Given the description of an element on the screen output the (x, y) to click on. 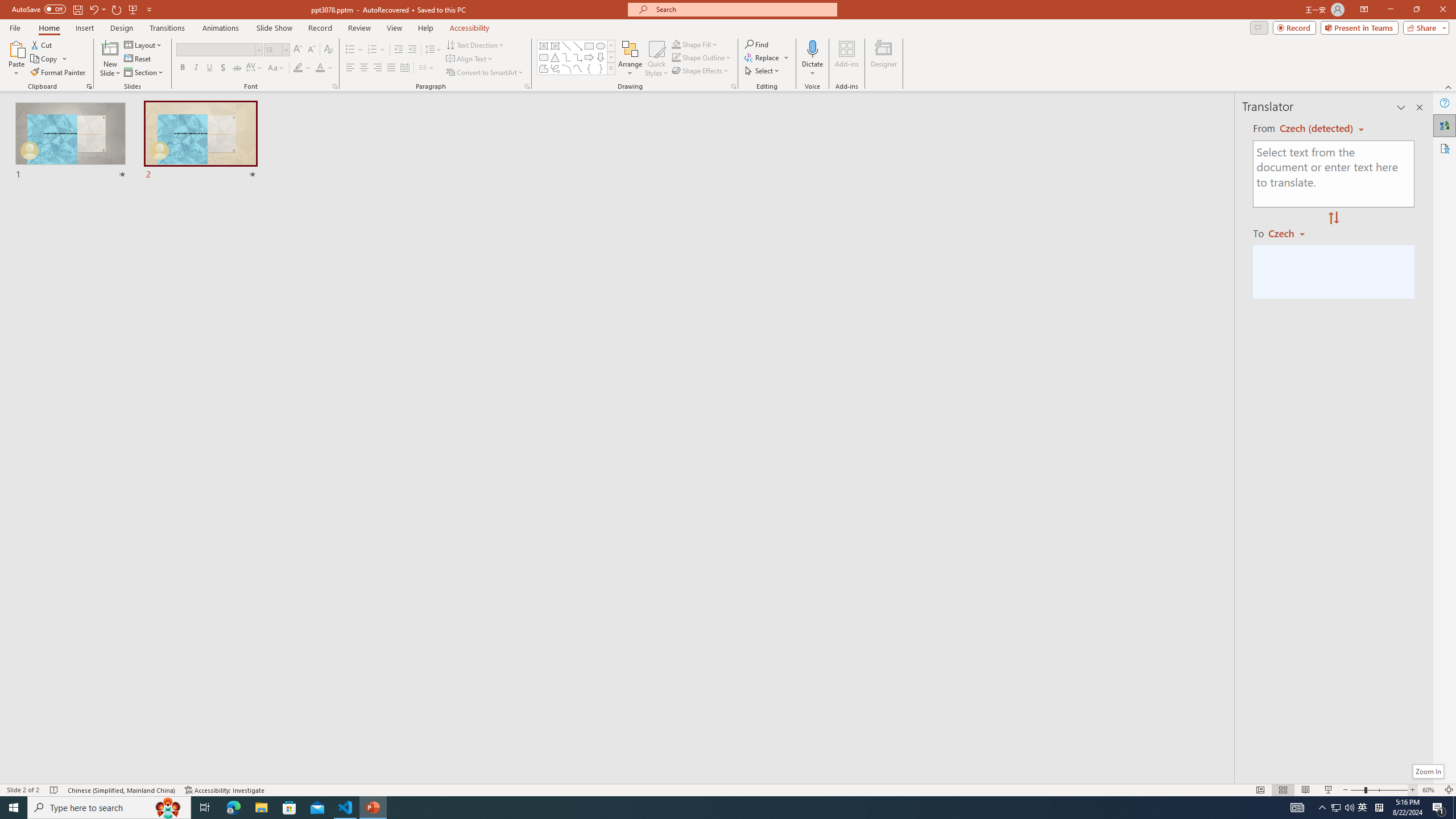
Zoom 60% (1430, 790)
